Given the description of an element on the screen output the (x, y) to click on. 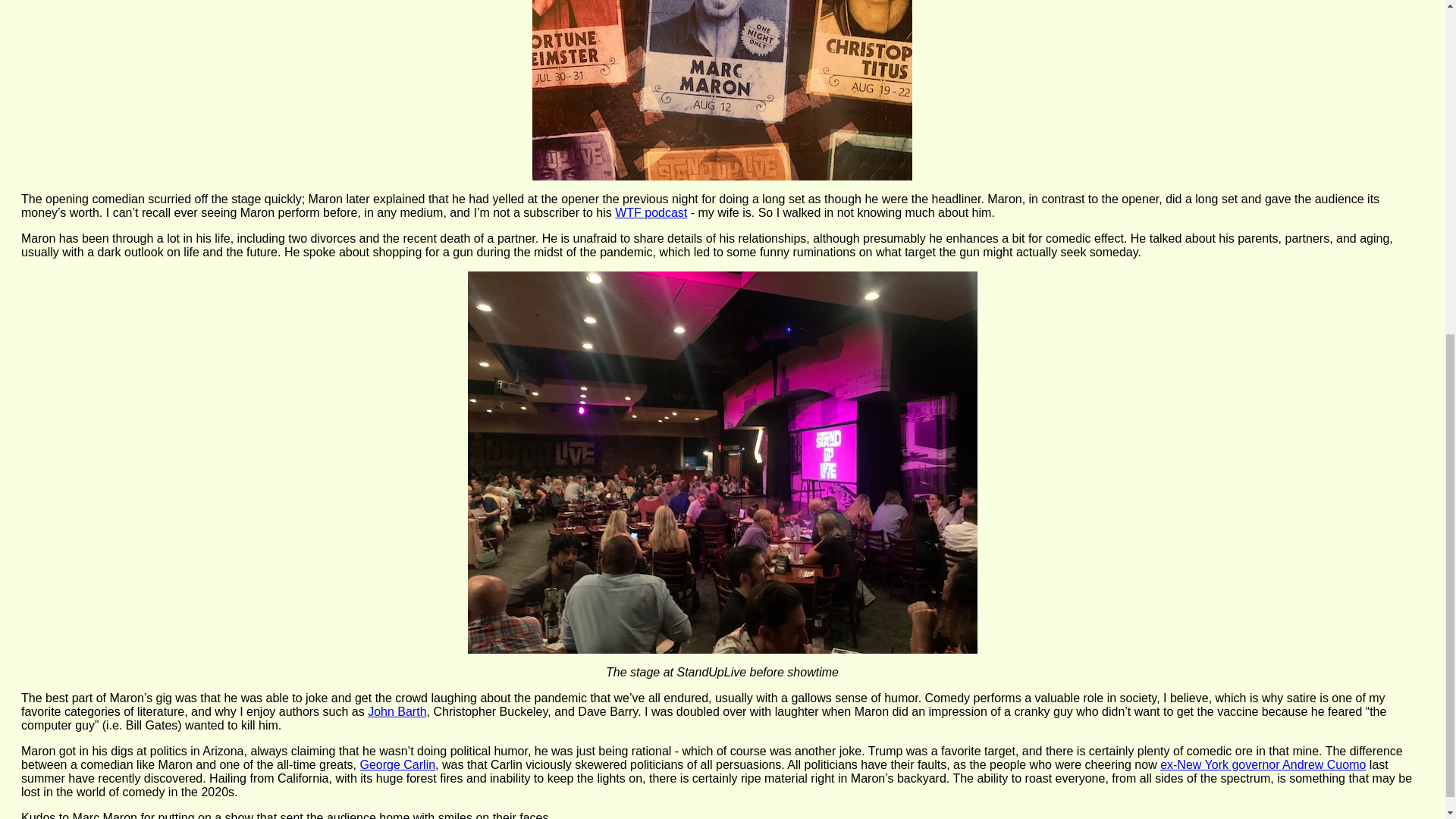
ex-New York governor Andrew Cuomo (1262, 764)
George Carlin (397, 764)
John Barth (397, 711)
WTF podcast (650, 212)
